Given the description of an element on the screen output the (x, y) to click on. 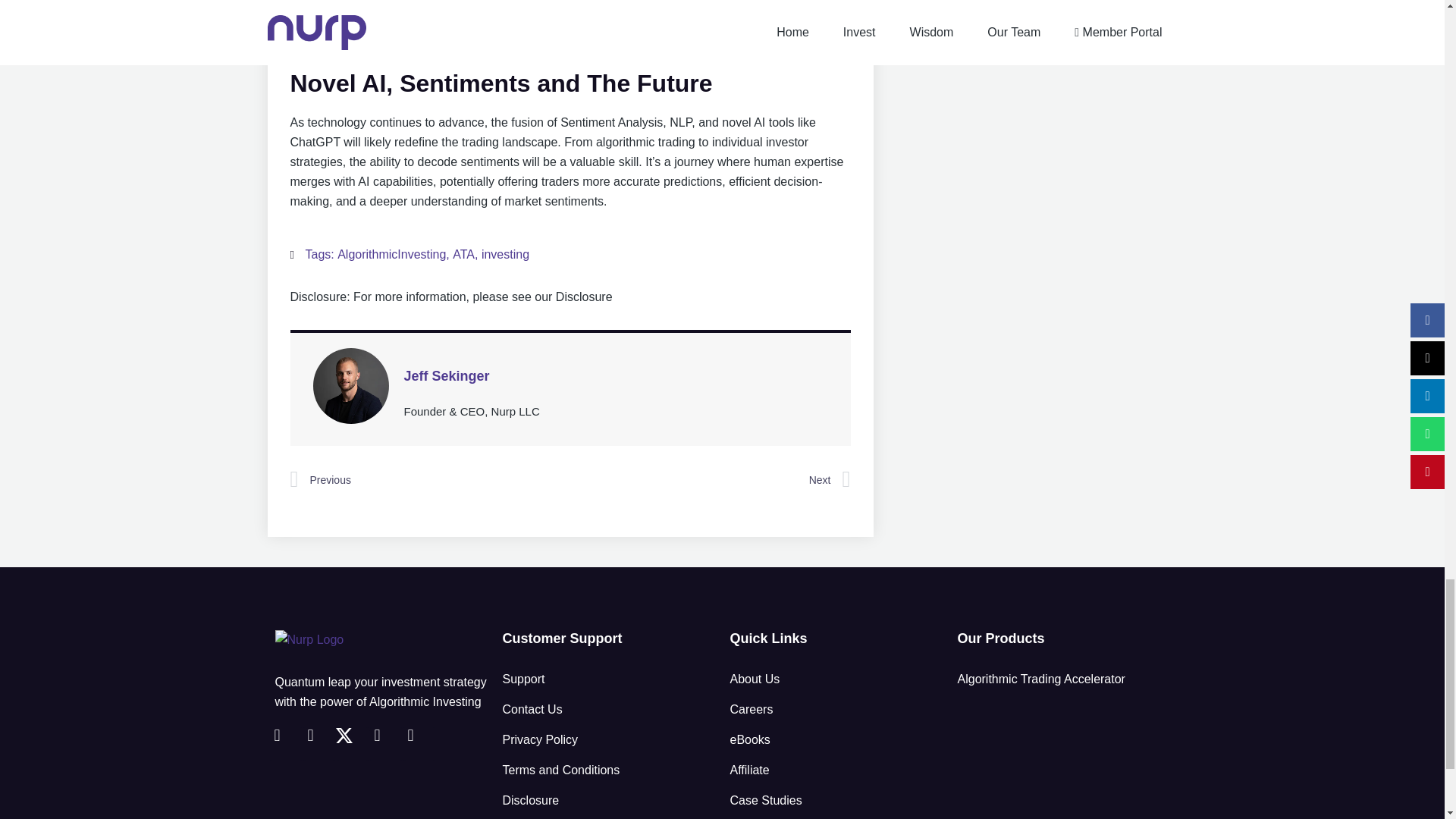
AlgorithmicInvesting (391, 254)
Jeff Sekinger (615, 375)
investing (505, 254)
Next (710, 479)
ATA (463, 254)
Previous (429, 479)
